Given the description of an element on the screen output the (x, y) to click on. 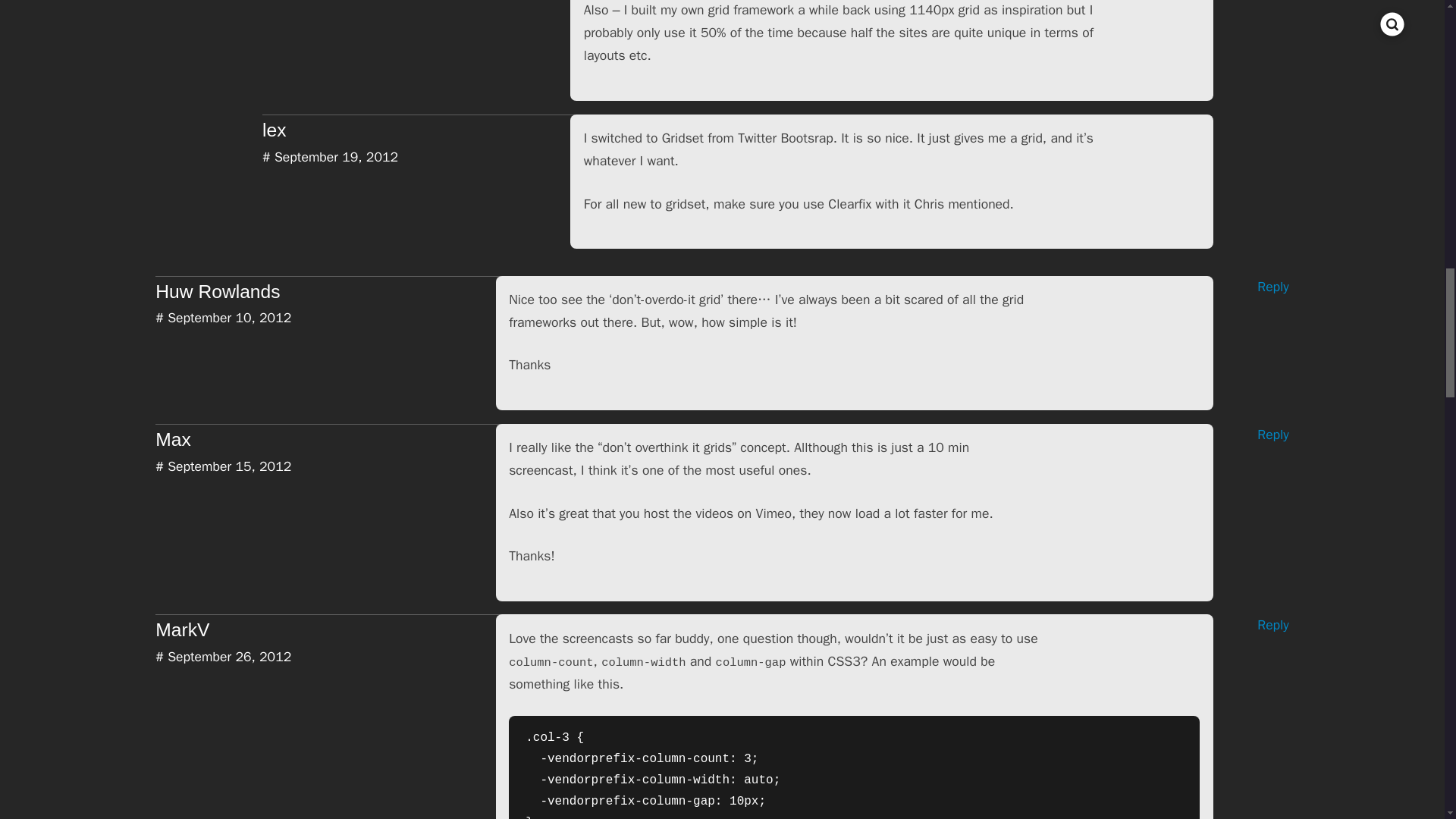
Reply (1250, 435)
Reply (1250, 287)
Reply (1250, 625)
